Given the description of an element on the screen output the (x, y) to click on. 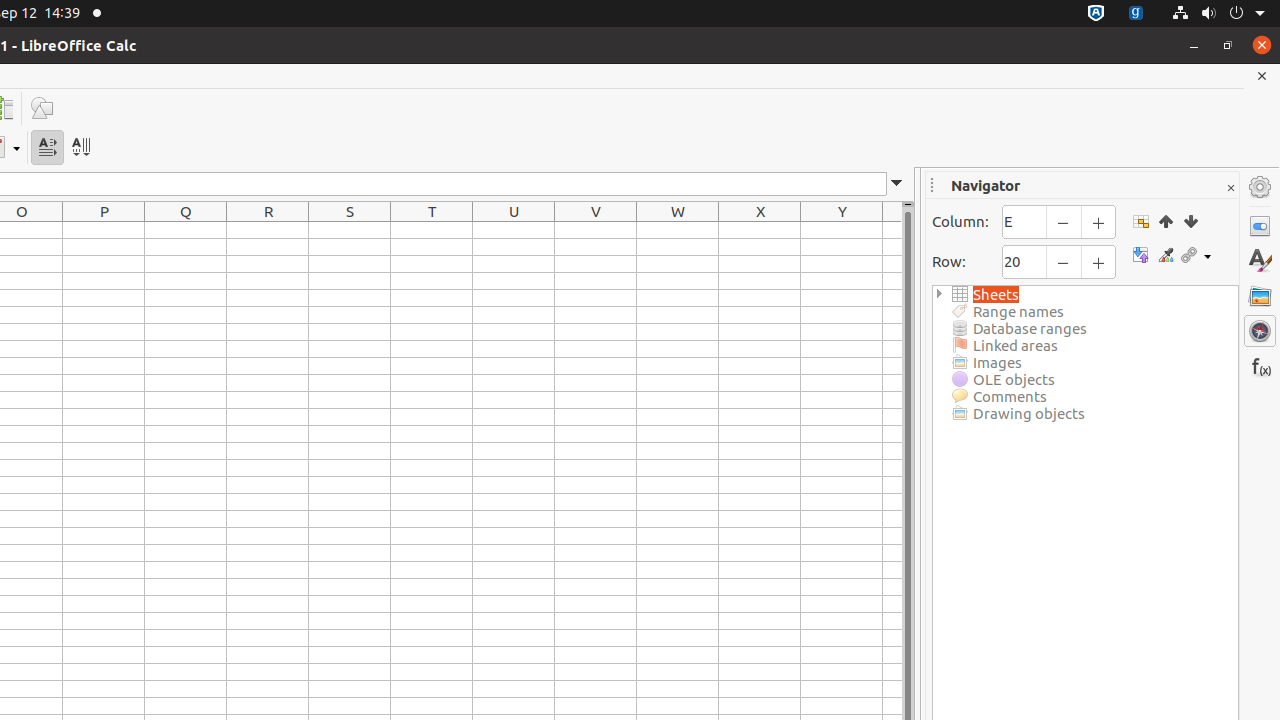
Properties Element type: radio-button (1260, 226)
X1 Element type: table-cell (760, 230)
Close Sidebar Deck Element type: push-button (1230, 188)
Q1 Element type: table-cell (186, 230)
:1.72/StatusNotifierItem Element type: menu (1096, 13)
